Given the description of an element on the screen output the (x, y) to click on. 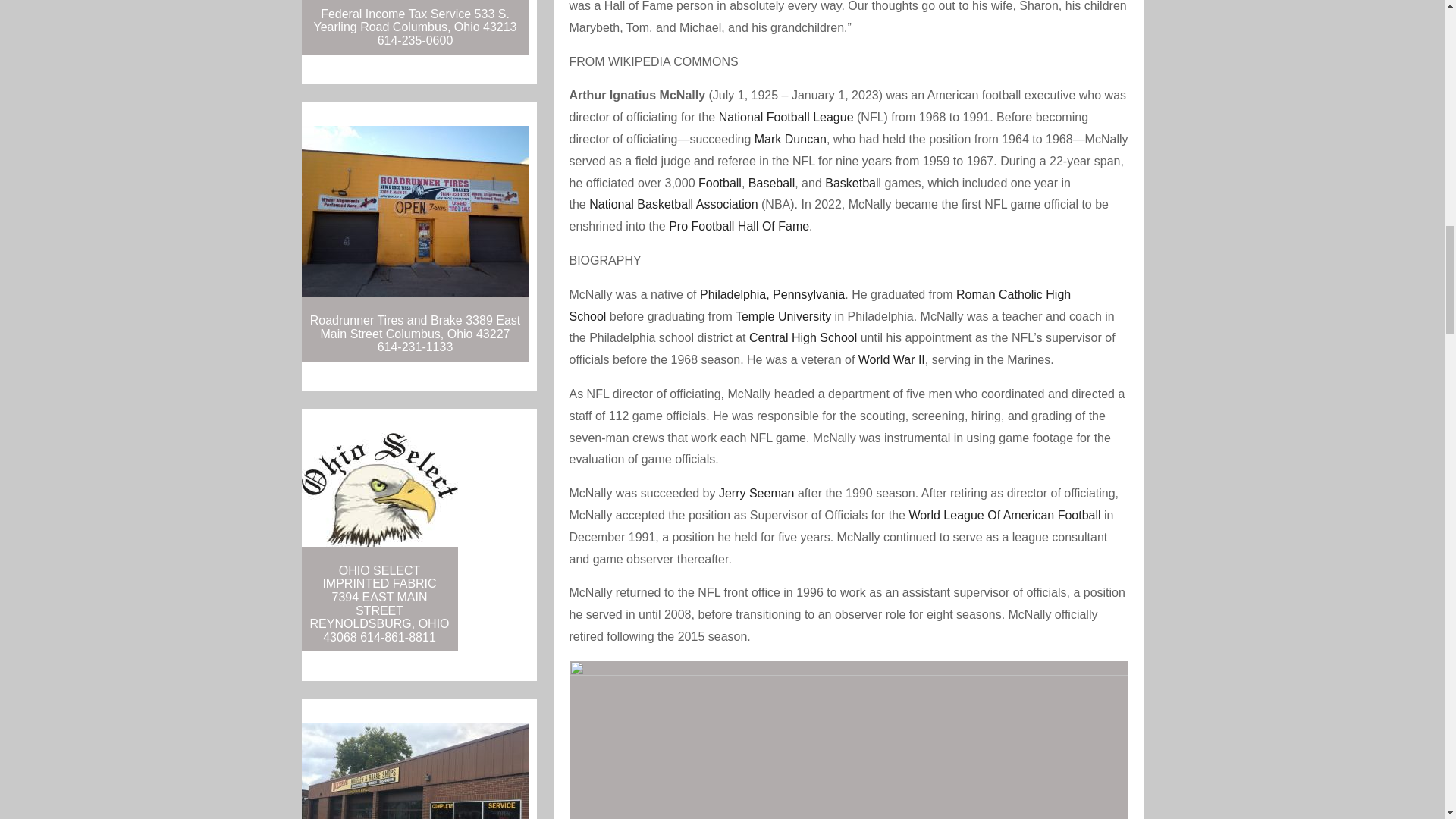
Central High School (803, 337)
Pro Football Hall Of Fame (738, 226)
National Basketball Association (673, 204)
World League Of American Football (1004, 514)
Philadelphia, Pennsylvania (772, 294)
Basketball (852, 182)
Mark Duncan (790, 138)
Football (719, 182)
World War II (891, 359)
Baseball (771, 182)
National Football League (786, 116)
Temple University (783, 316)
Jerry Seeman (756, 492)
Roman Catholic High School (819, 305)
